Given the description of an element on the screen output the (x, y) to click on. 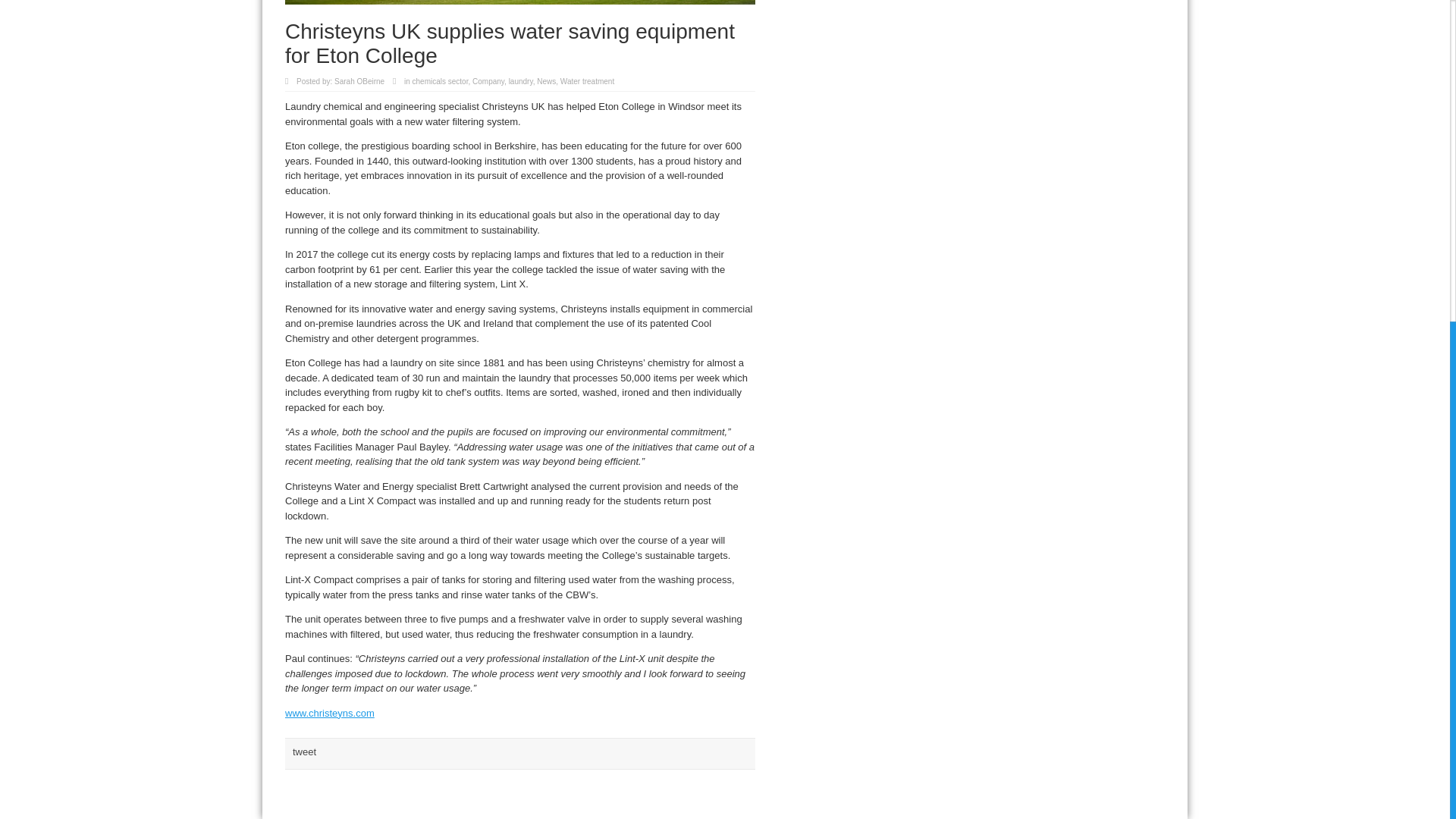
Water treatment (587, 80)
Sarah OBeirne (359, 80)
News (546, 80)
chemicals sector (440, 80)
www.christeyns.com (329, 713)
Company (487, 80)
laundry (520, 80)
